Given the description of an element on the screen output the (x, y) to click on. 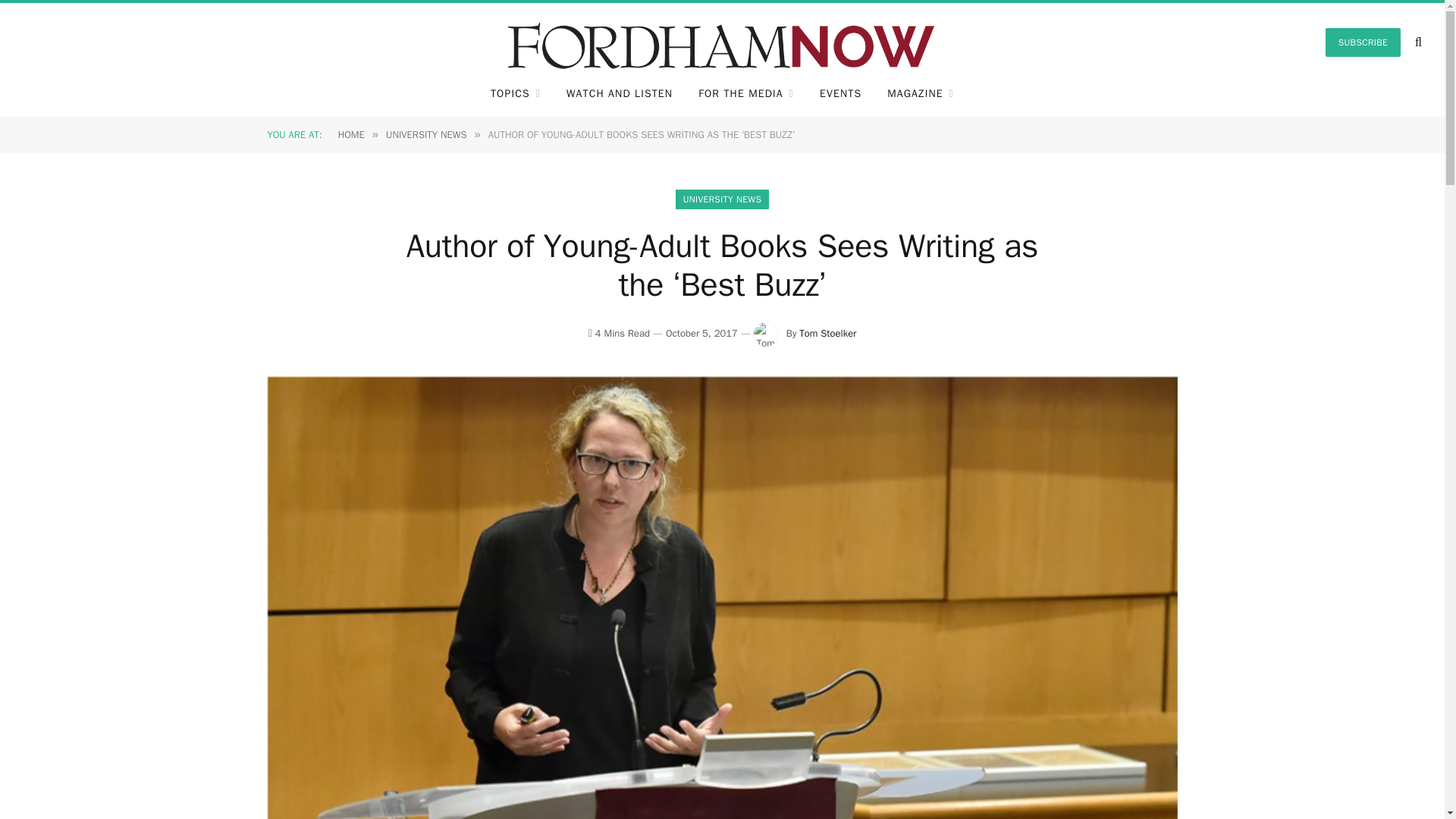
Posts by Tom Stoelker (827, 332)
UNIVERSITY NEWS (426, 133)
WATCH AND LISTEN (619, 94)
UNIVERSITY NEWS (722, 199)
MAGAZINE (920, 94)
SUBSCRIBE (1362, 41)
FOR THE MEDIA (745, 94)
EVENTS (840, 94)
Fordham Now (722, 42)
TOPICS (515, 94)
